Given the description of an element on the screen output the (x, y) to click on. 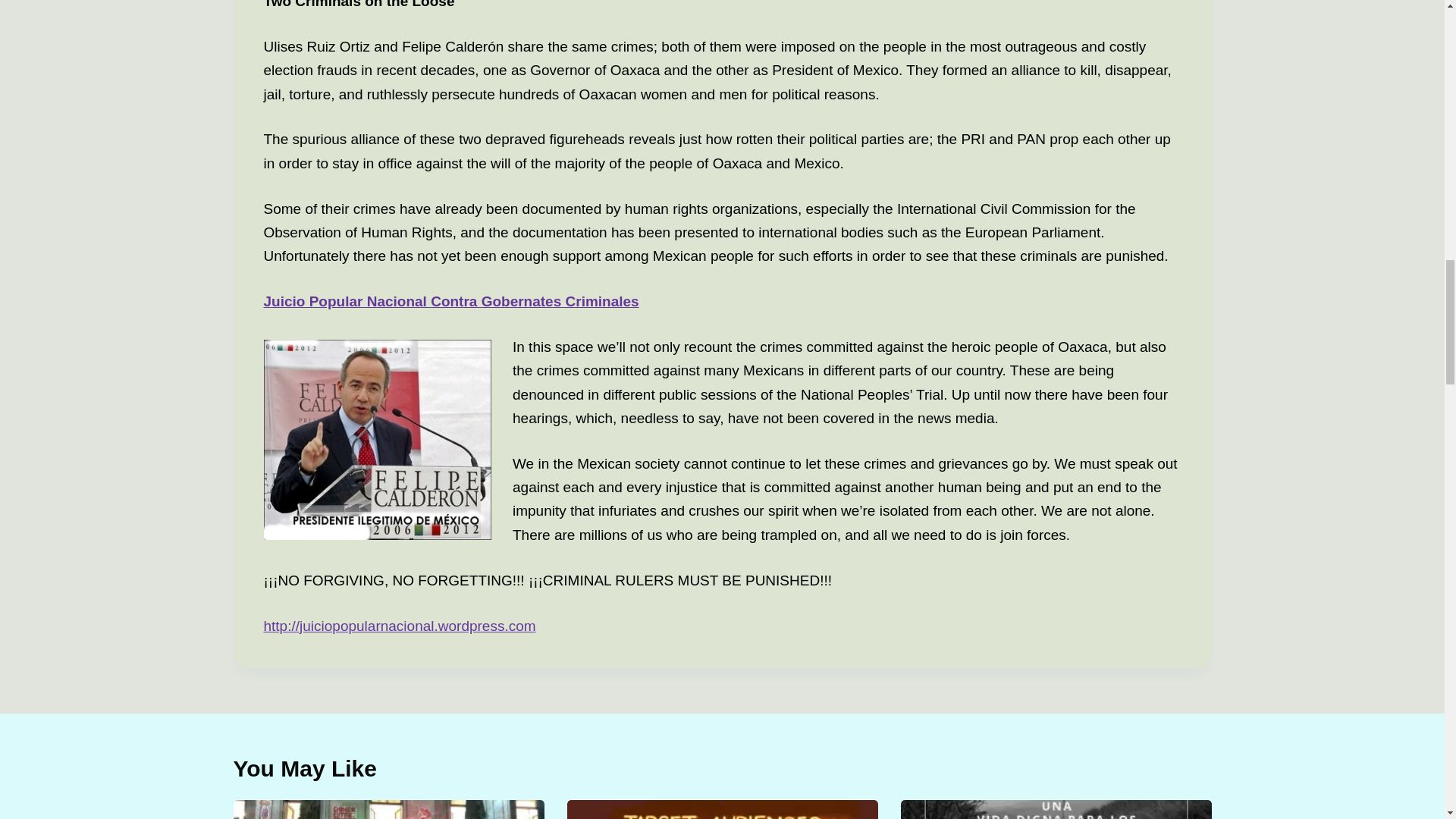
Juicio Popular Nacional Contra Gobernates Criminales (451, 301)
felipe-calderon (377, 439)
